Given the description of an element on the screen output the (x, y) to click on. 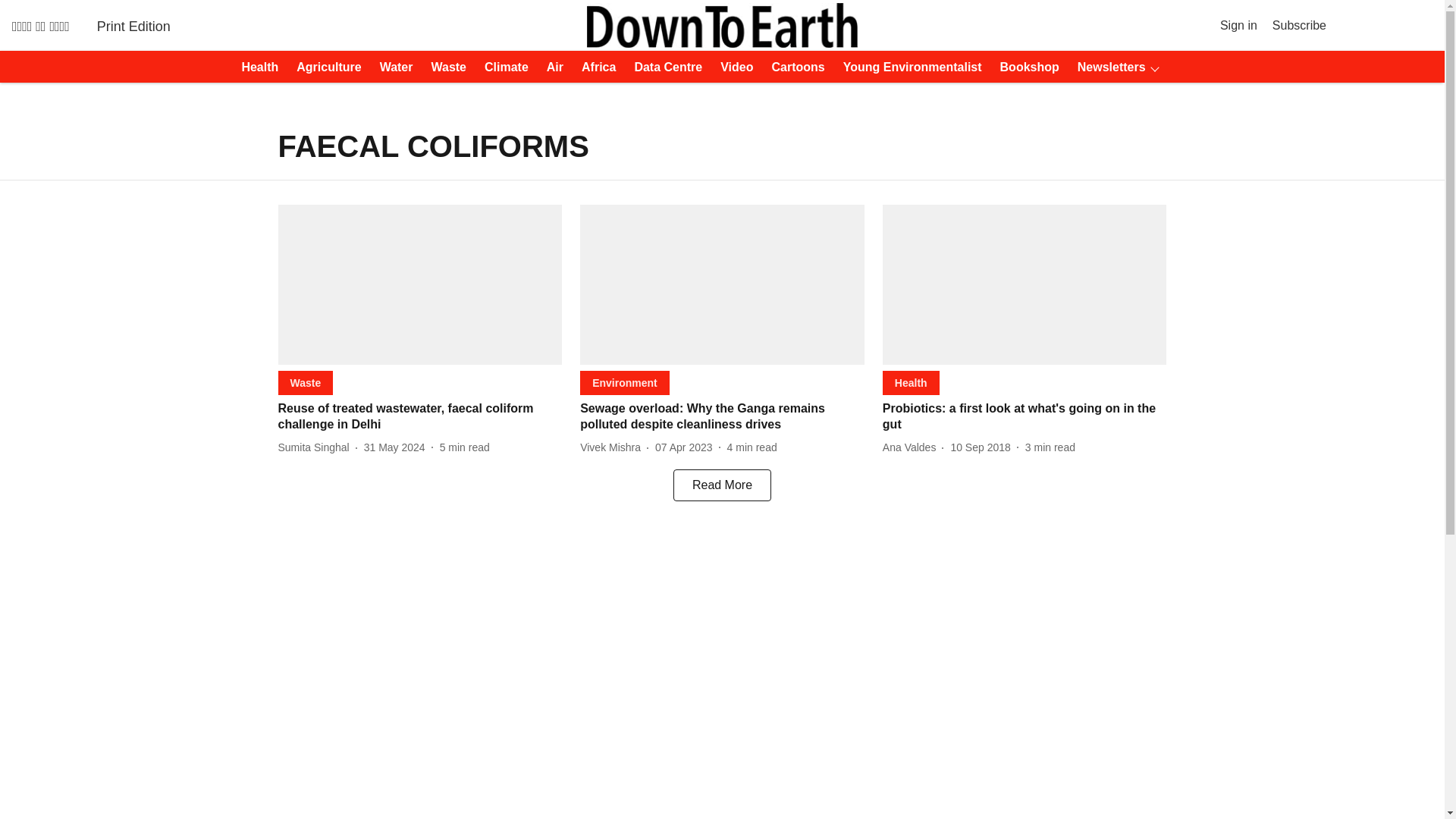
Bookshop (1025, 67)
Cartoons (793, 67)
Environment (624, 382)
Waste (305, 382)
Vivek Mishra (612, 447)
Video (731, 67)
2024-05-31 12:24 (394, 447)
2018-09-10 03:35 (980, 447)
Waste (443, 67)
Print Edition (133, 26)
